Given the description of an element on the screen output the (x, y) to click on. 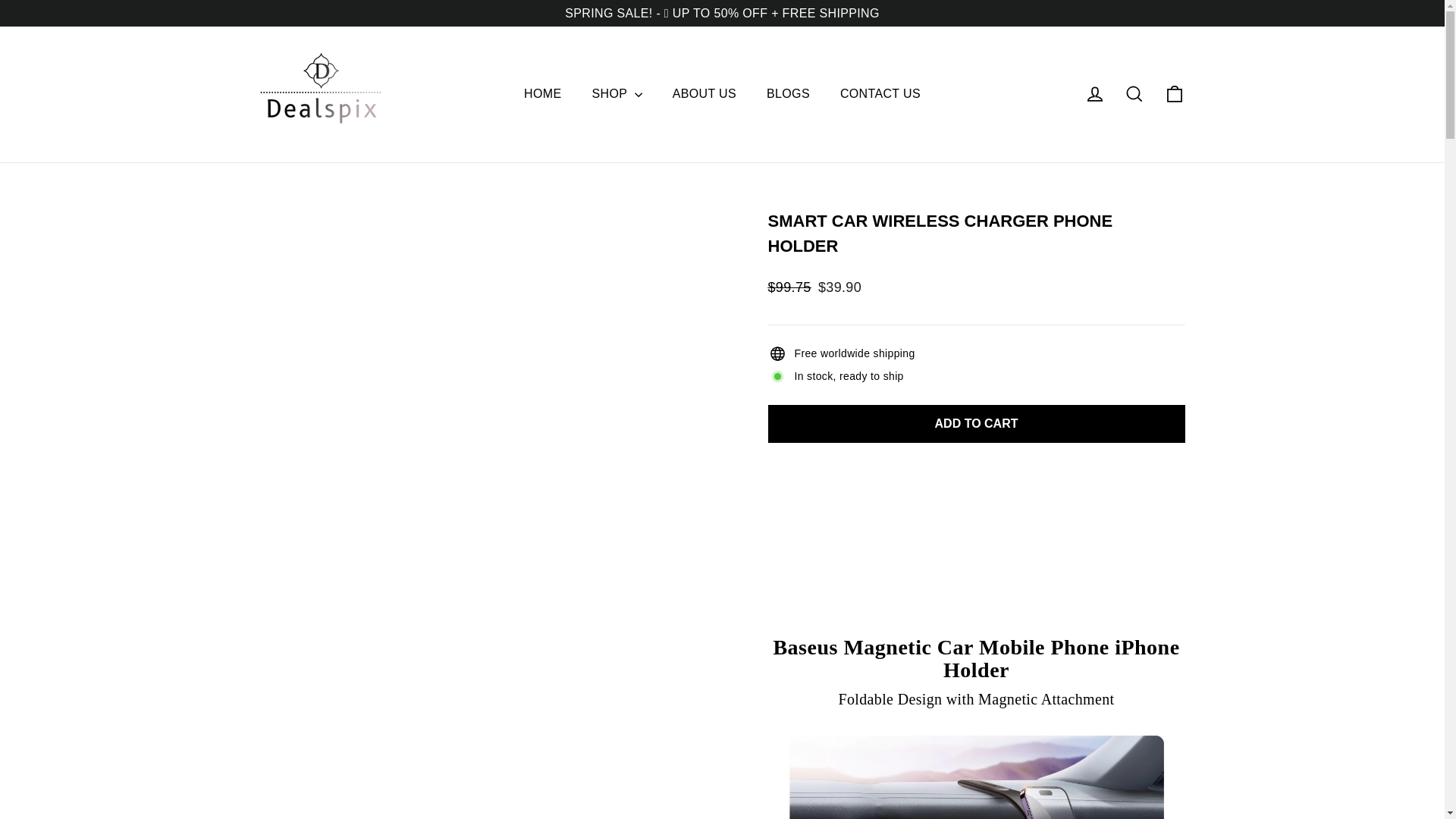
Cart (1173, 94)
ABOUT US (704, 93)
BLOGS (788, 93)
Search (1134, 94)
HOME (542, 93)
Log in (1095, 94)
CONTACT US (880, 93)
SHOP (616, 93)
